Given the description of an element on the screen output the (x, y) to click on. 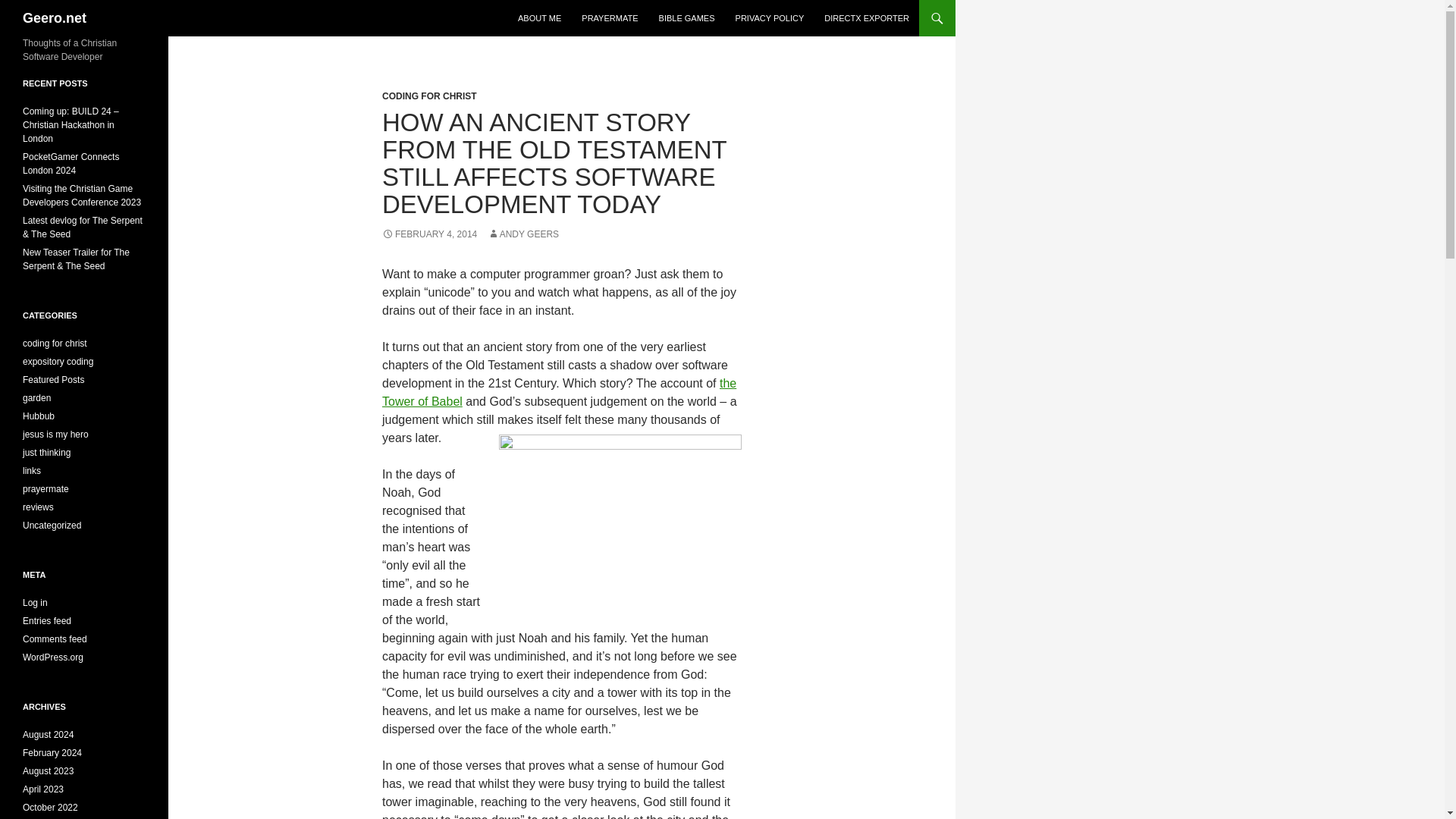
CODING FOR CHRIST (429, 95)
PRIVACY POLICY (769, 18)
Hubbub (39, 416)
ANDY GEERS (523, 234)
Uncategorized (52, 525)
August 2024 (48, 734)
February 2024 (52, 752)
Featured Posts (53, 379)
just thinking (46, 452)
WordPress.org (52, 656)
